Given the description of an element on the screen output the (x, y) to click on. 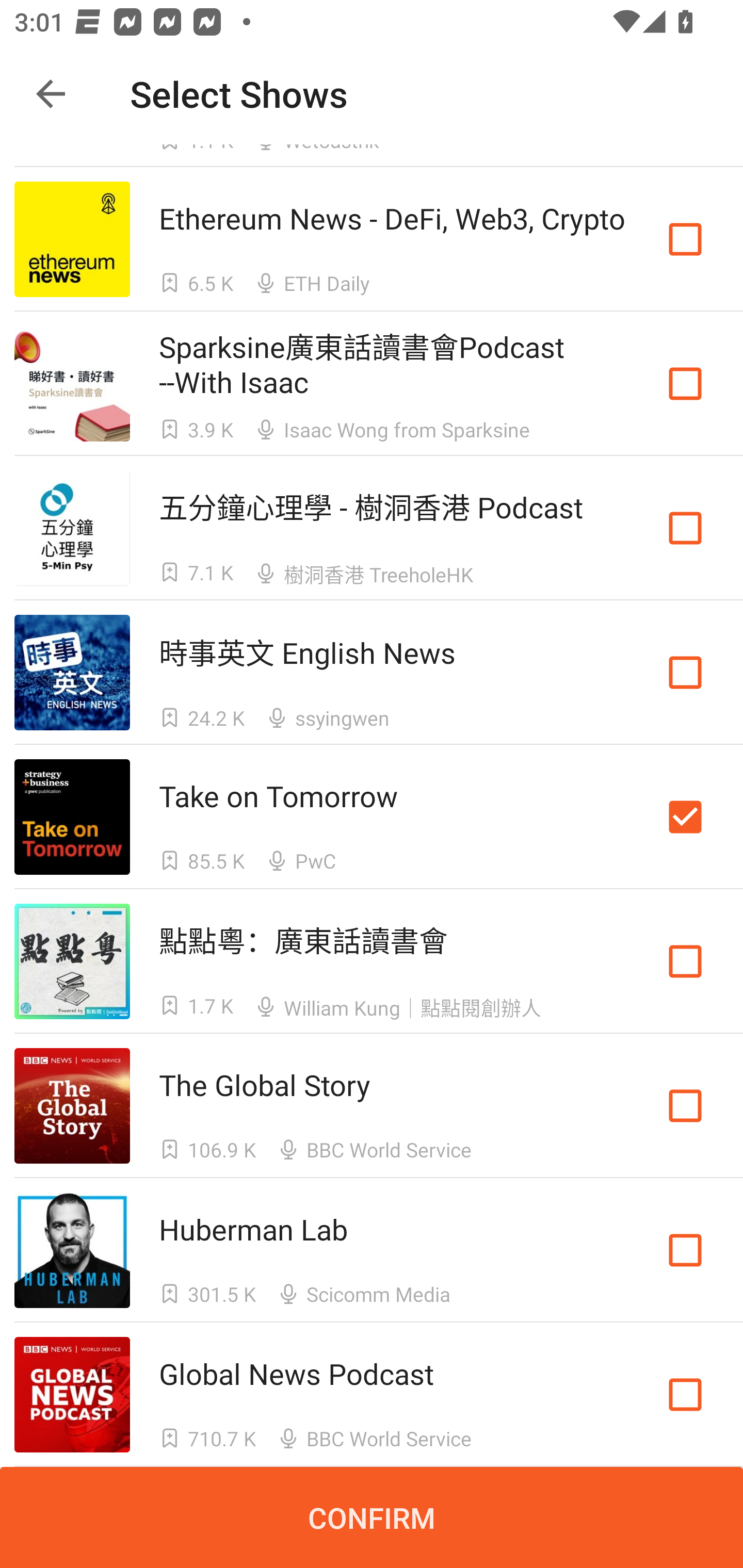
Navigate up (50, 93)
Take on Tomorrow Take on Tomorrow  85.5 K  PwC (371, 816)
CONFIRM (371, 1517)
